Given the description of an element on the screen output the (x, y) to click on. 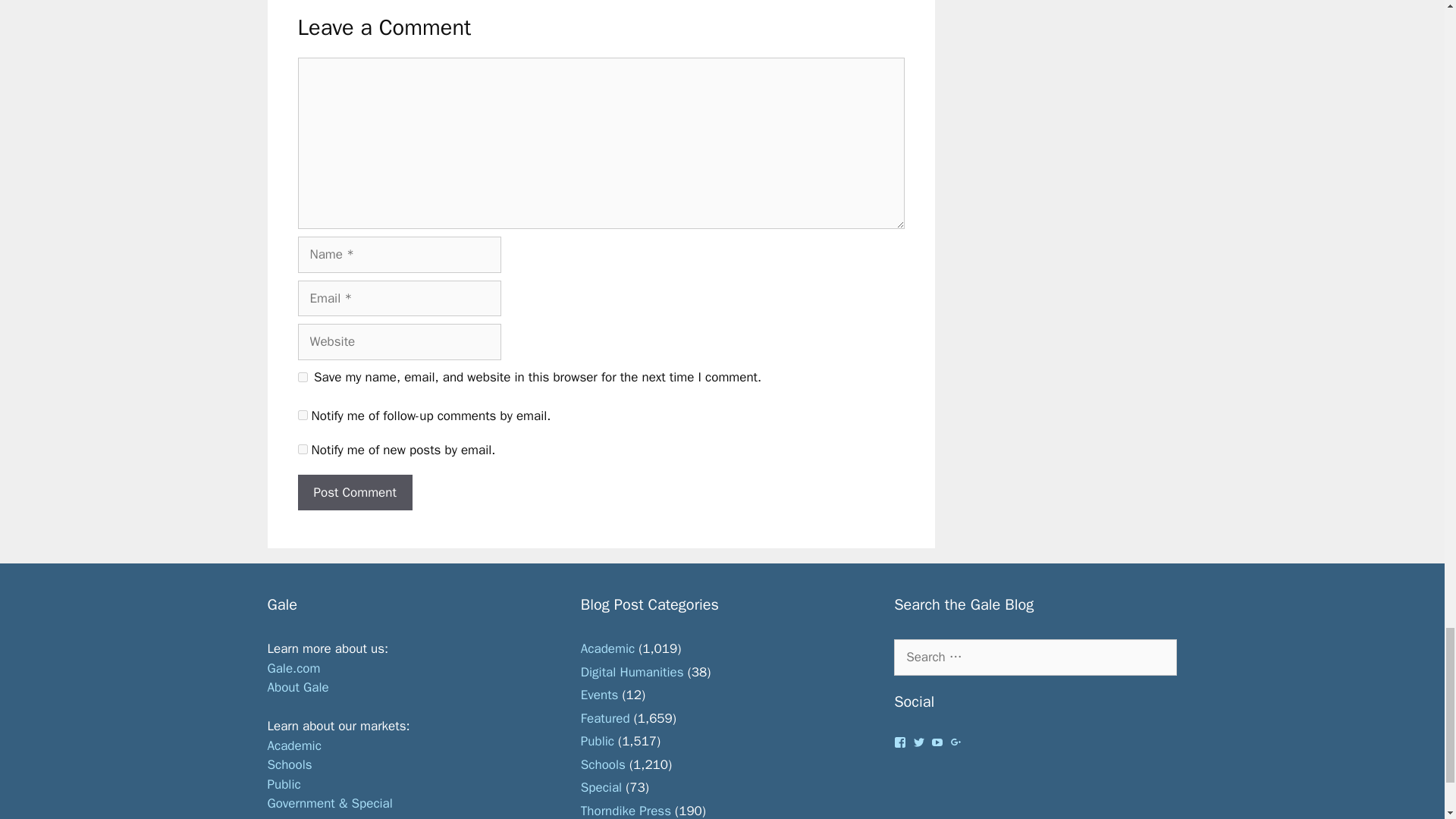
Search for: (1034, 657)
Post Comment (354, 493)
yes (302, 377)
subscribe (302, 449)
subscribe (302, 415)
Post Comment (354, 493)
